Given the description of an element on the screen output the (x, y) to click on. 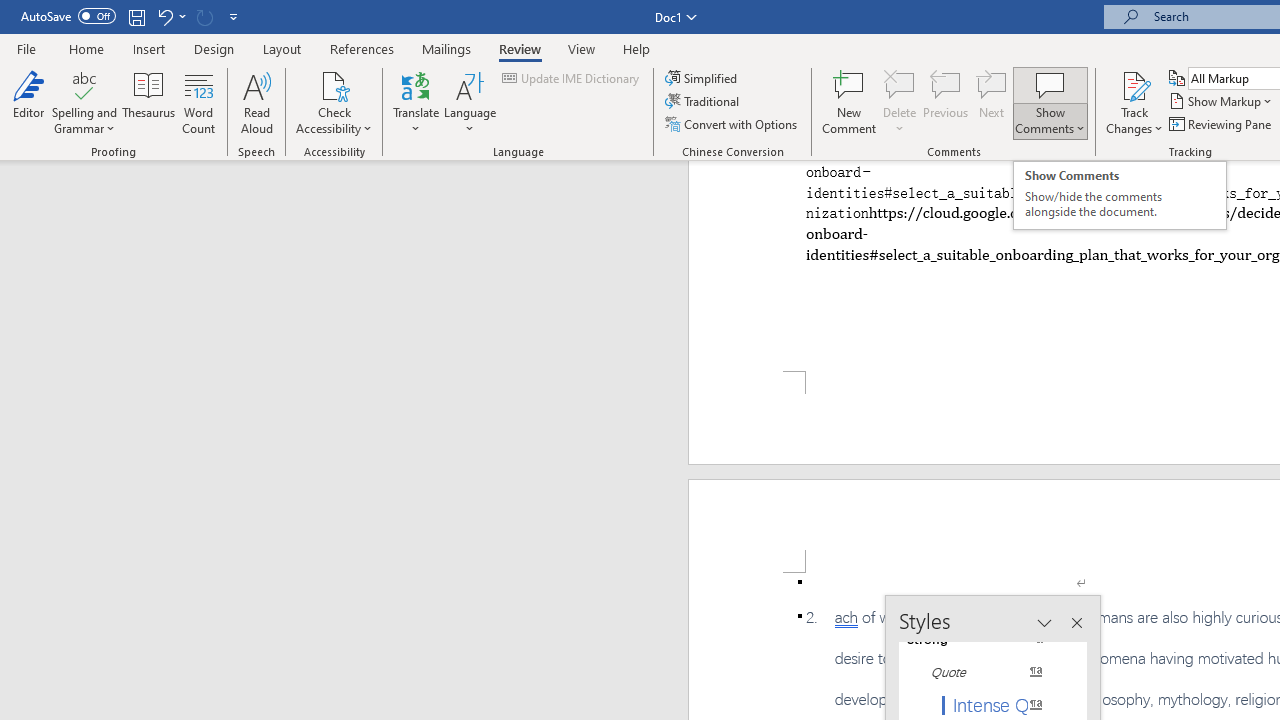
Word Count (198, 102)
Check Accessibility (334, 84)
Language (470, 102)
Undo Paste (170, 15)
Strong (984, 638)
Read Aloud (256, 102)
Convert with Options... (732, 124)
Update IME Dictionary... (572, 78)
Track Changes (1134, 102)
Thesaurus... (148, 102)
Track Changes (1134, 84)
